Given the description of an element on the screen output the (x, y) to click on. 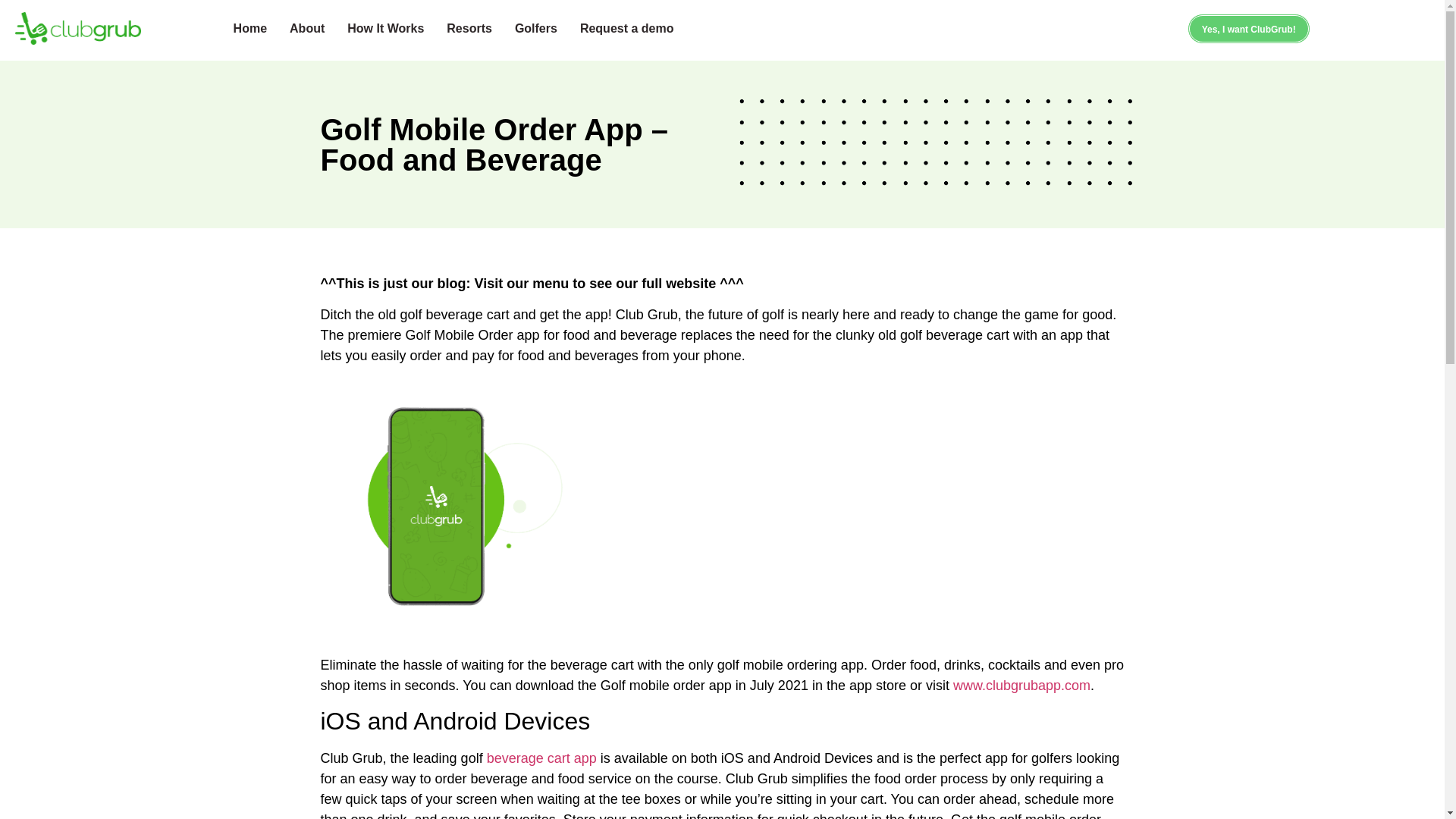
Resorts (469, 27)
www.clubgrubapp.com (1021, 685)
Golfers (536, 27)
How It Works (385, 27)
Home (250, 27)
Yes, I want ClubGrub! (1249, 28)
Request a demo (627, 27)
About (307, 27)
beverage cart app (541, 758)
